Given the description of an element on the screen output the (x, y) to click on. 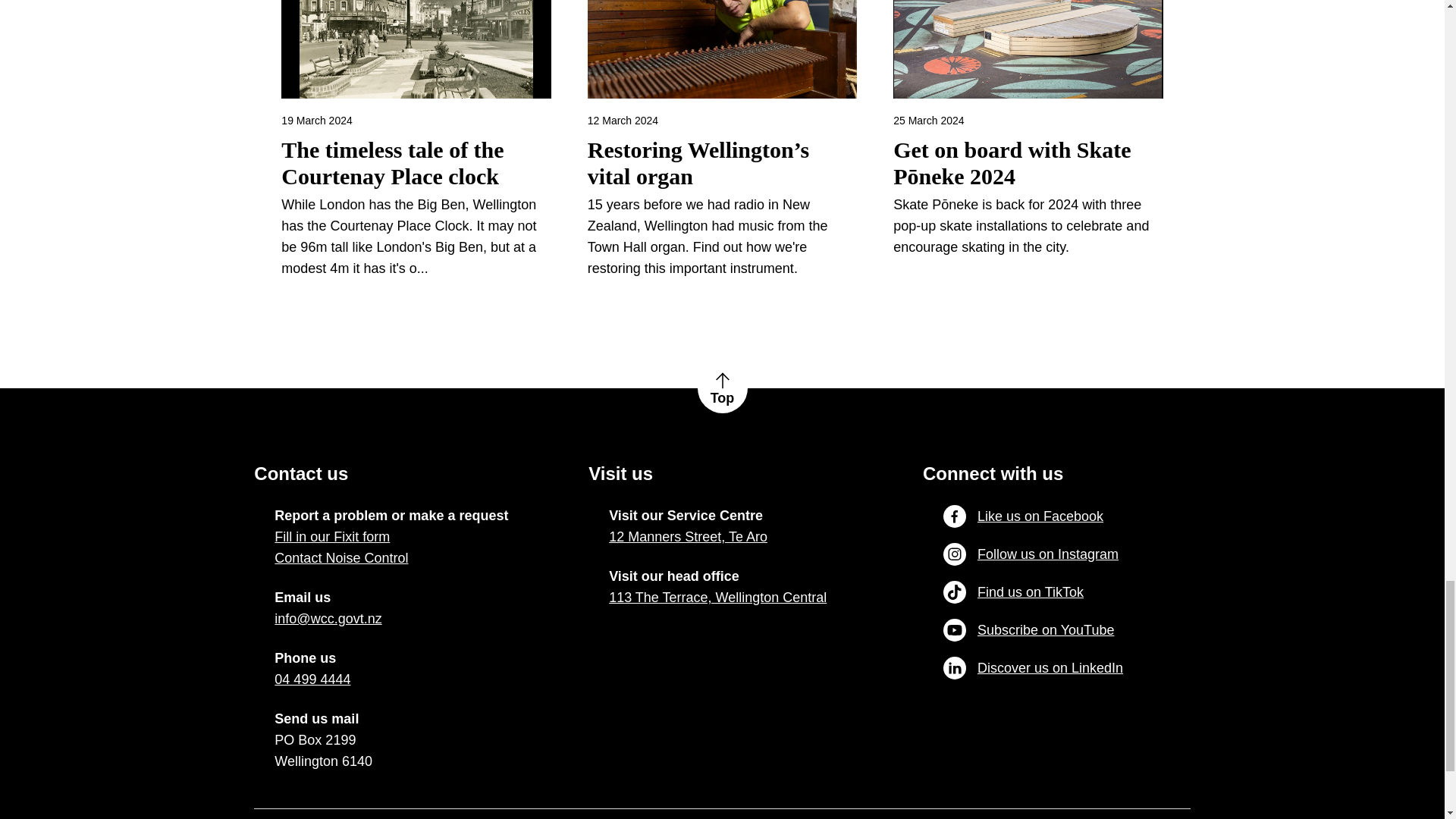
Link opens in a new window (717, 597)
Top (722, 388)
113 The Terrace, Wellington Central (717, 597)
Subscribe on YouTube (1028, 630)
Contact Noise Control (341, 557)
12 Manners Street, Te Aro (687, 536)
Link opens in a new window (687, 536)
Find us on TikTok (1013, 591)
Discover us on LinkedIn (1032, 667)
04 499 4444 (312, 679)
Link opens in a new window (312, 679)
Follow us on Instagram (1030, 553)
Link opens in a new window (328, 618)
Like us on Facebook (1023, 516)
